Given the description of an element on the screen output the (x, y) to click on. 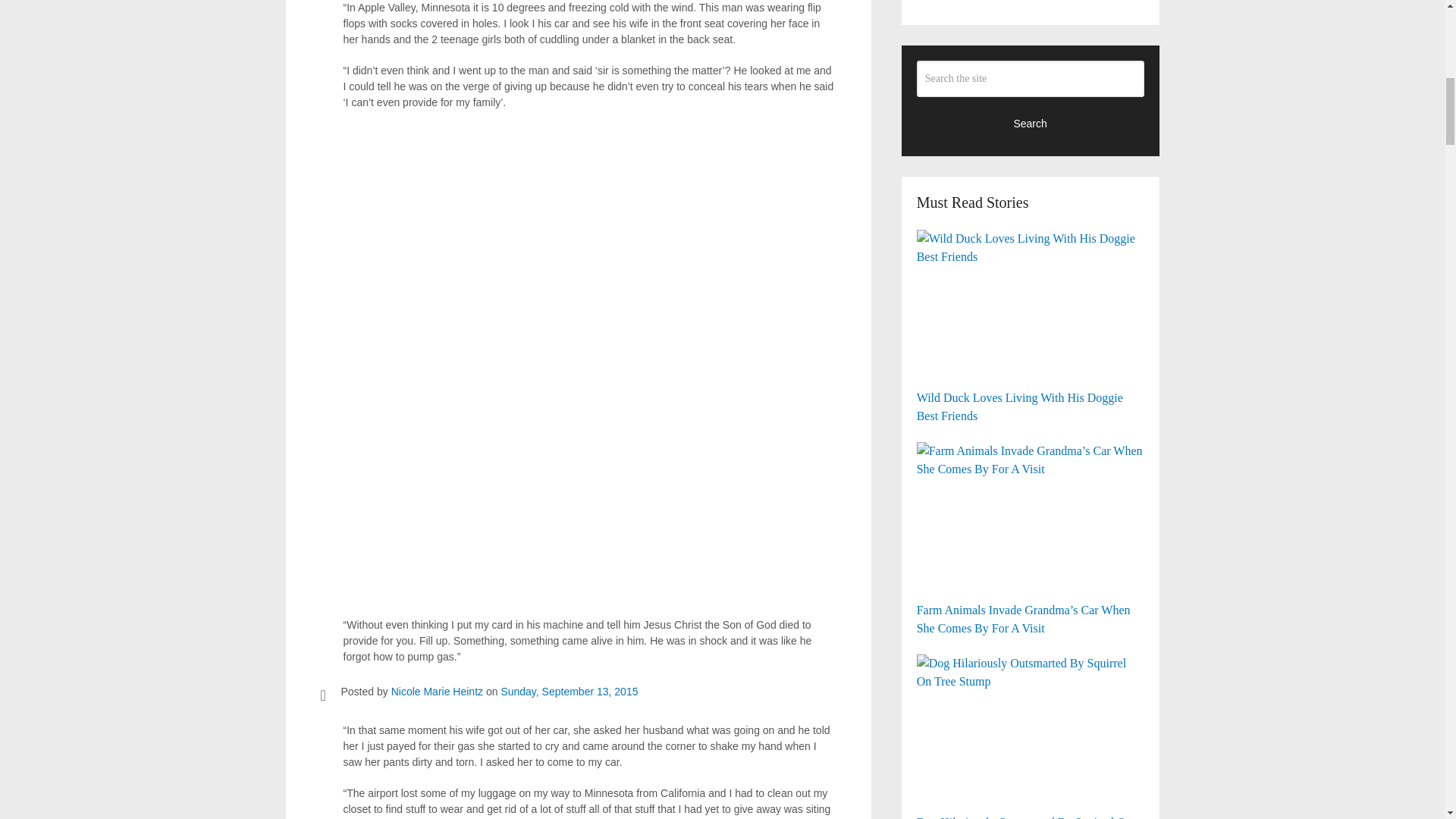
Wild Duck Loves Living With His Doggie Best Friends (1030, 325)
Dog Hilariously Outsmarted By Squirrel On Tree Stump (1030, 734)
Wild Duck Loves Living With His Doggie Best Friends (1030, 305)
Dog Hilariously Outsmarted By Squirrel On Tree Stump (1030, 729)
